Given the description of an element on the screen output the (x, y) to click on. 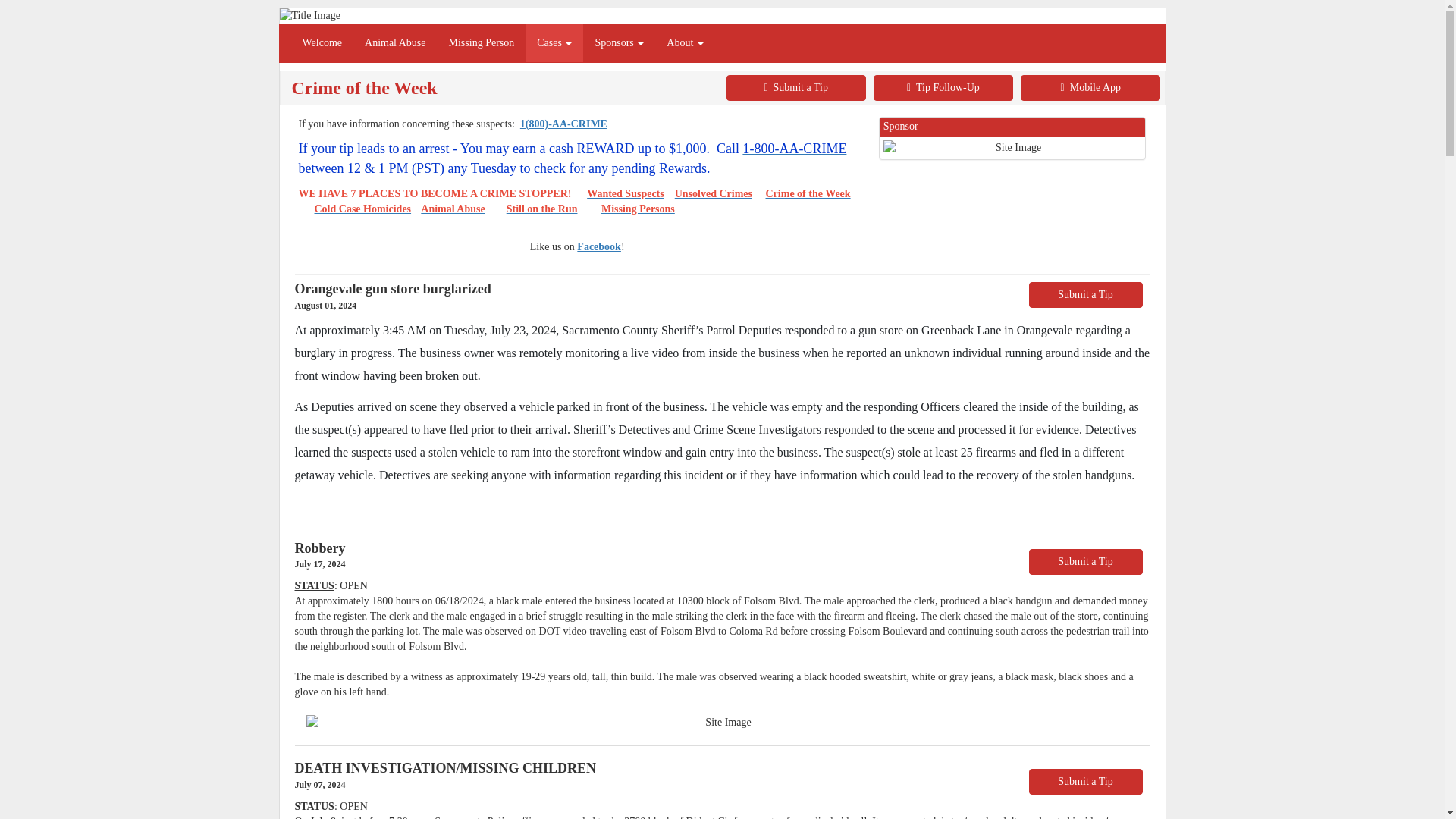
 Mobile App (1090, 87)
1-800-AA-CRIME (793, 148)
Missing Person (481, 43)
About (684, 43)
Welcome (322, 43)
 Tip Follow-Up (943, 87)
Cold Case Homicides (362, 208)
Crime of the Week (807, 193)
Animal Abuse (395, 43)
Wanted Suspects (624, 193)
